Given the description of an element on the screen output the (x, y) to click on. 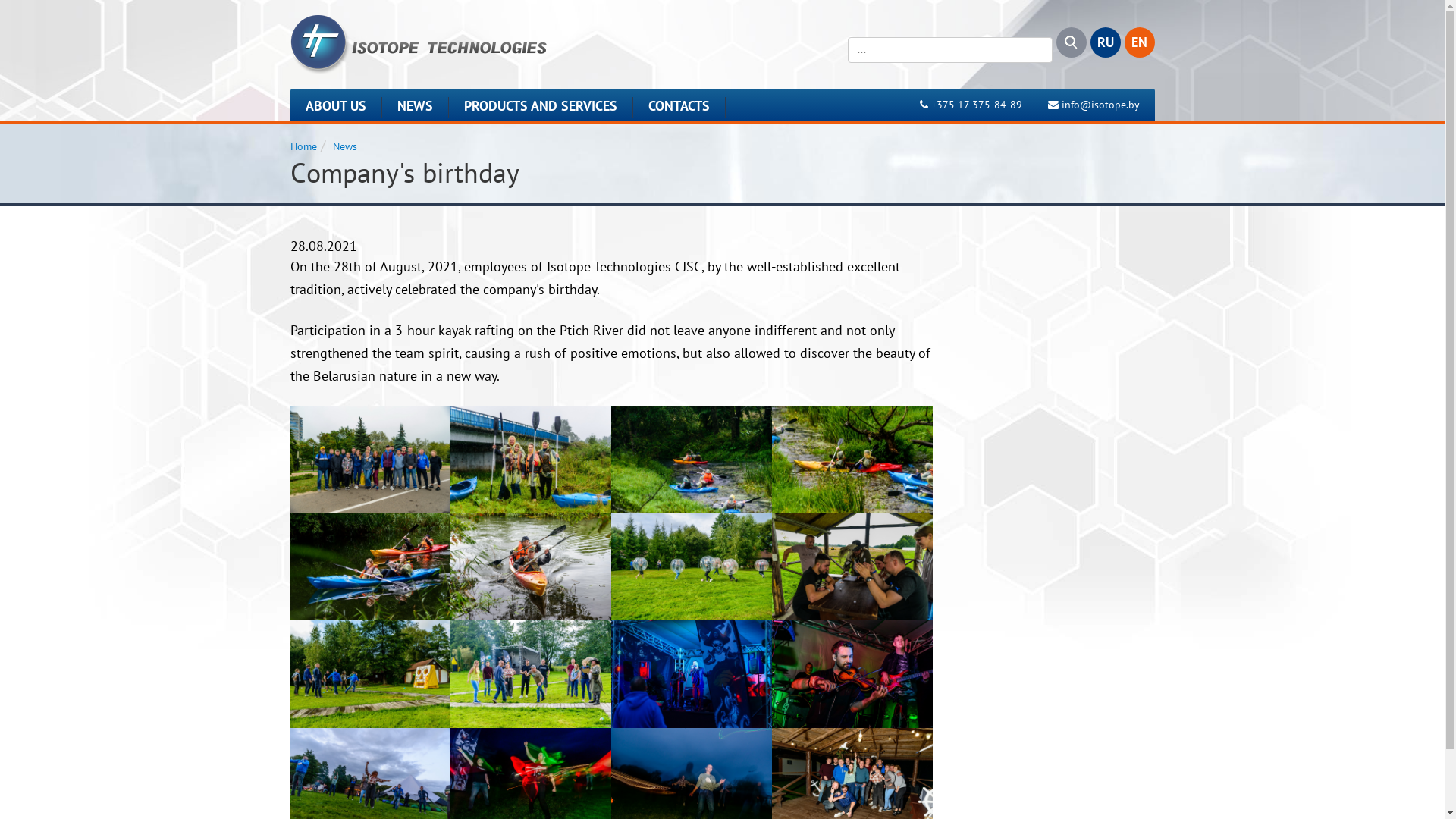
23th-2021 Element type: hover (691, 458)
Home Element type: text (302, 146)
info@isotope.by Element type: text (1100, 104)
CONTACTS Element type: text (678, 107)
23th-2021 Element type: hover (530, 566)
PRODUCTS AND SERVICES Element type: text (540, 107)
23th-2021 Element type: hover (691, 673)
NEWS Element type: text (415, 107)
23th-2021 Element type: hover (851, 458)
23th-2021 Element type: hover (851, 673)
23th-2021 Element type: hover (369, 673)
23th-2021 Element type: hover (530, 673)
23th-2021 Element type: hover (691, 566)
23th-2021 Element type: hover (369, 566)
ABOUT US Element type: text (335, 107)
News Element type: text (344, 146)
23th-2021 Element type: hover (369, 458)
RU Element type: text (1105, 42)
EN Element type: text (1138, 42)
23th-2021 Element type: hover (851, 566)
23th-2021 Element type: hover (530, 458)
